Given the description of an element on the screen output the (x, y) to click on. 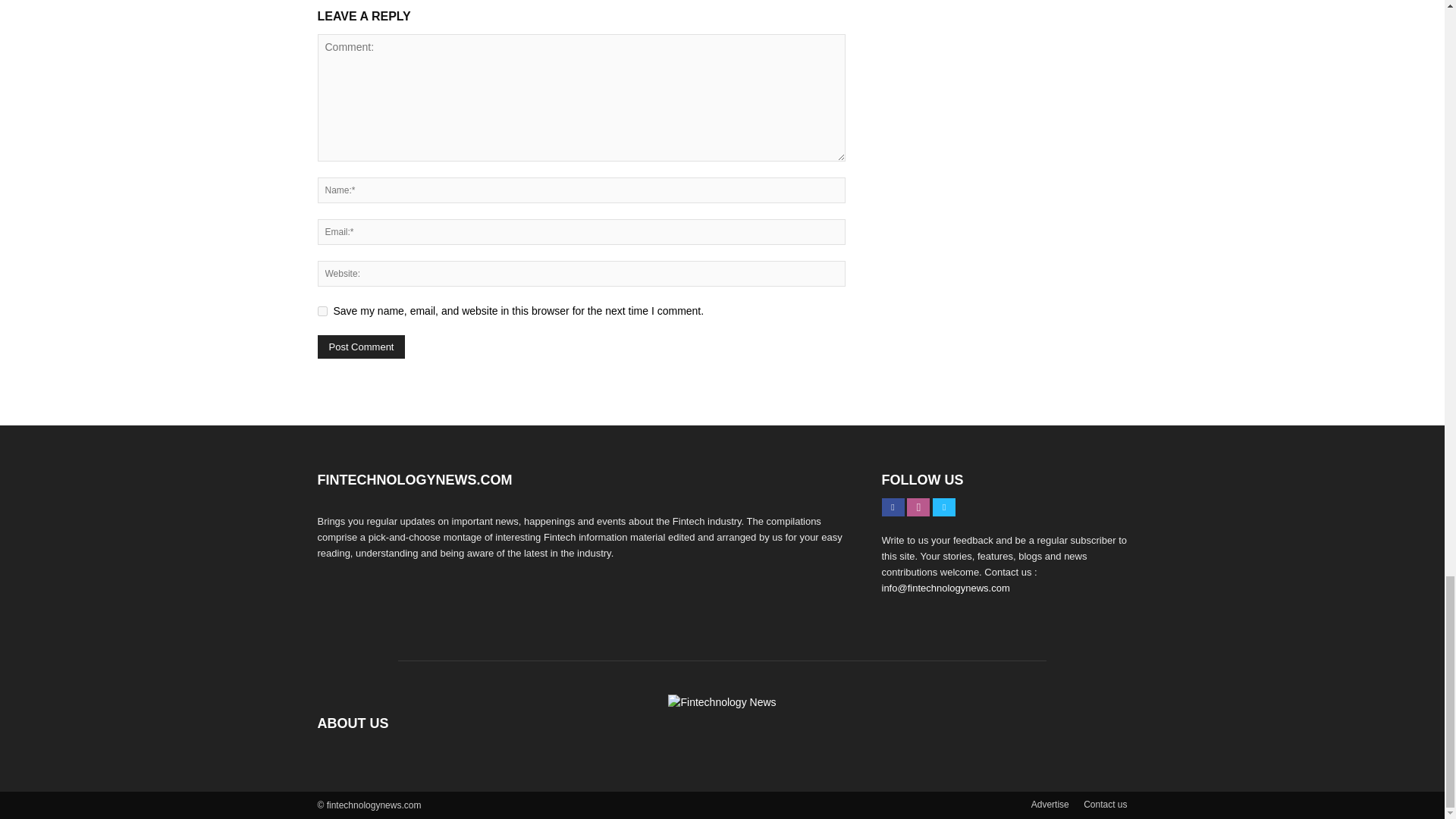
yes (321, 311)
Post Comment (360, 346)
